Given the description of an element on the screen output the (x, y) to click on. 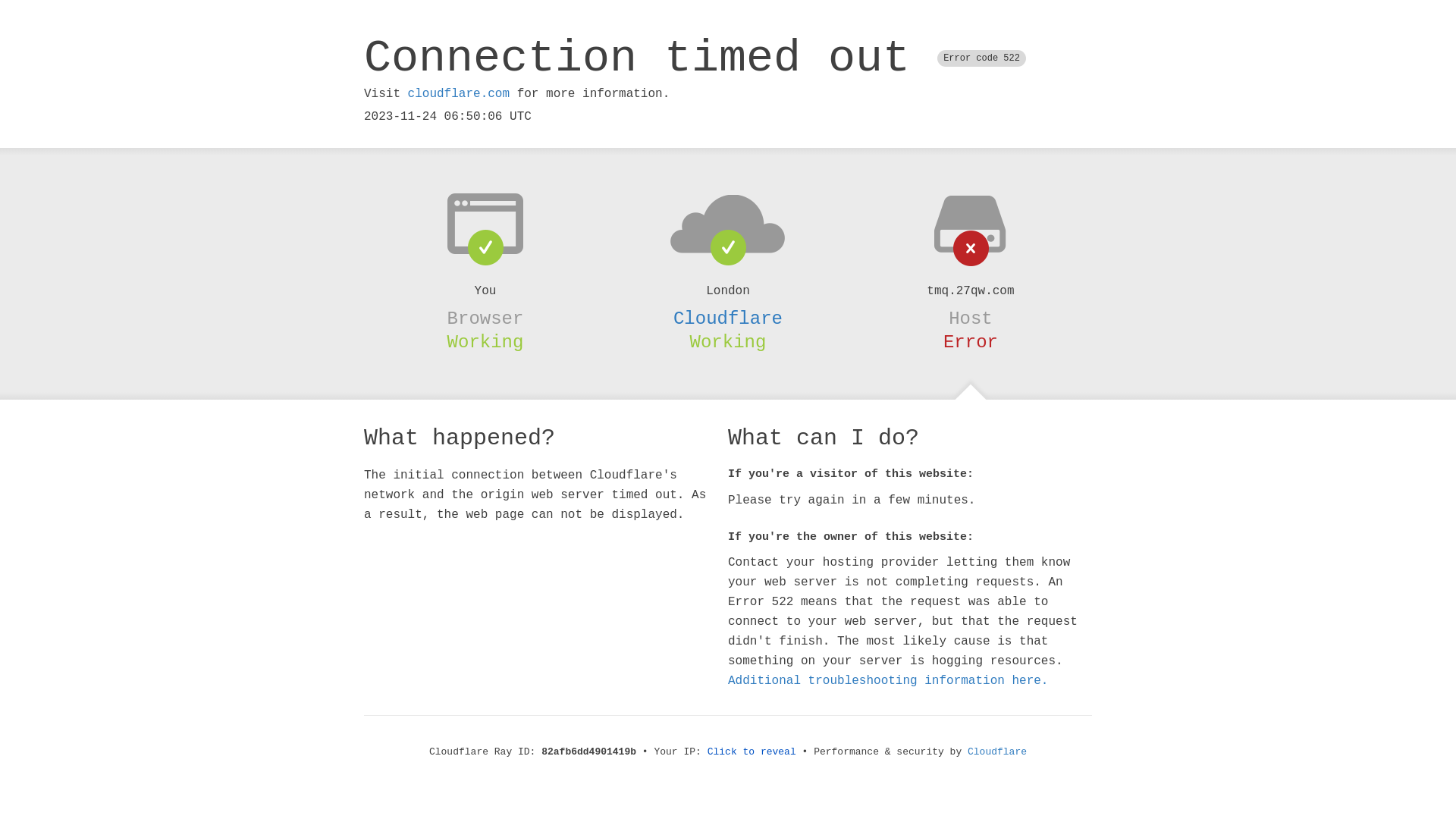
Click to reveal Element type: text (751, 751)
cloudflare.com Element type: text (458, 93)
Cloudflare Element type: text (727, 318)
Additional troubleshooting information here. Element type: text (888, 680)
Cloudflare Element type: text (996, 751)
